Given the description of an element on the screen output the (x, y) to click on. 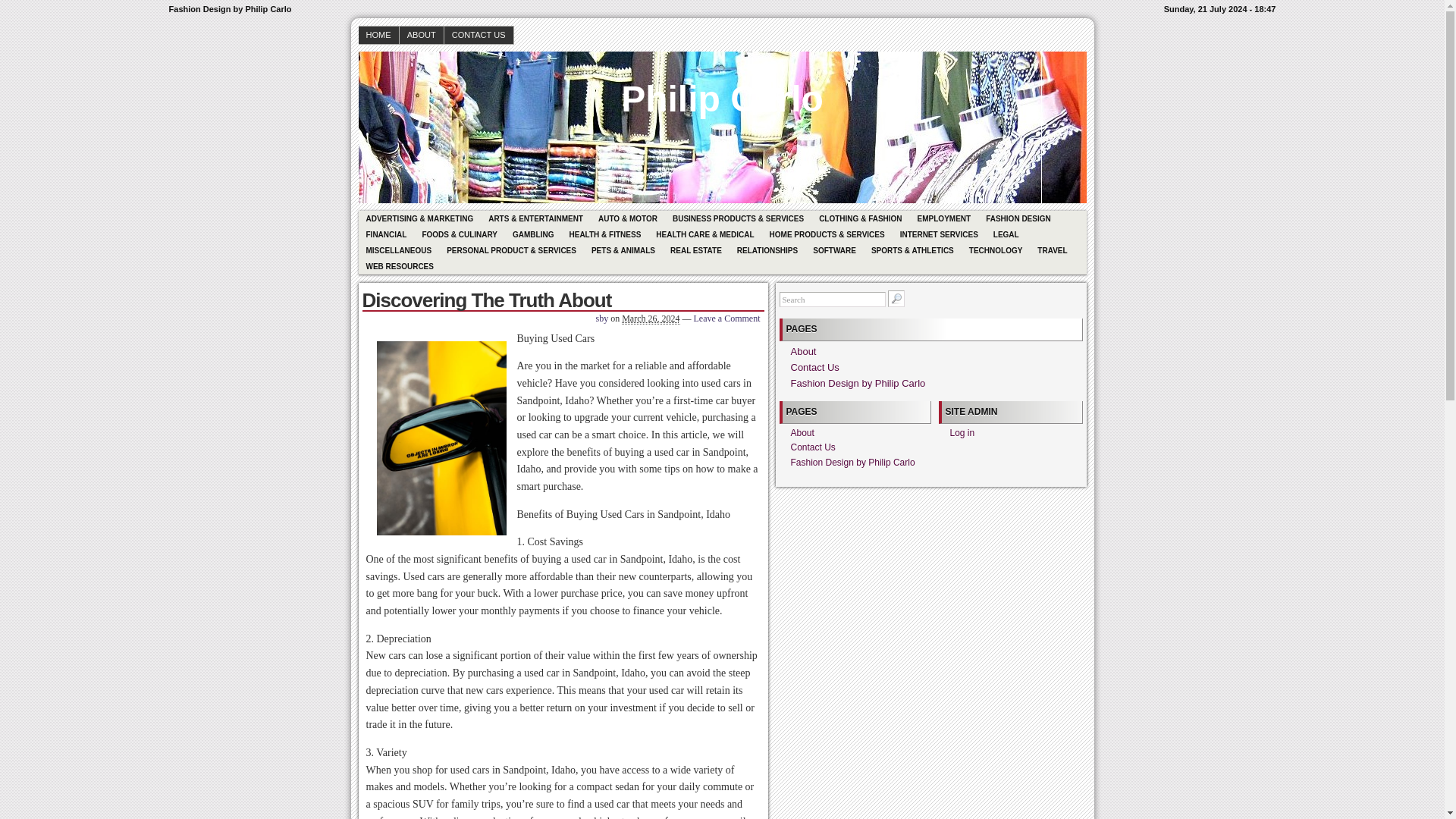
Contact Us (814, 367)
Fashion Design by Philip Carlo (722, 88)
HOME (378, 34)
March 26, 2024 - 1:18 am (650, 318)
About (801, 432)
GAMBLING (532, 234)
Fashion Design by Philip Carlo (857, 383)
REAL ESTATE (695, 250)
TECHNOLOGY (995, 250)
WEB RESOURCES (399, 266)
ABOUT (421, 34)
RELATIONSHIPS (767, 250)
site information (721, 9)
SOFTWARE (834, 250)
FINANCIAL (385, 234)
